Given the description of an element on the screen output the (x, y) to click on. 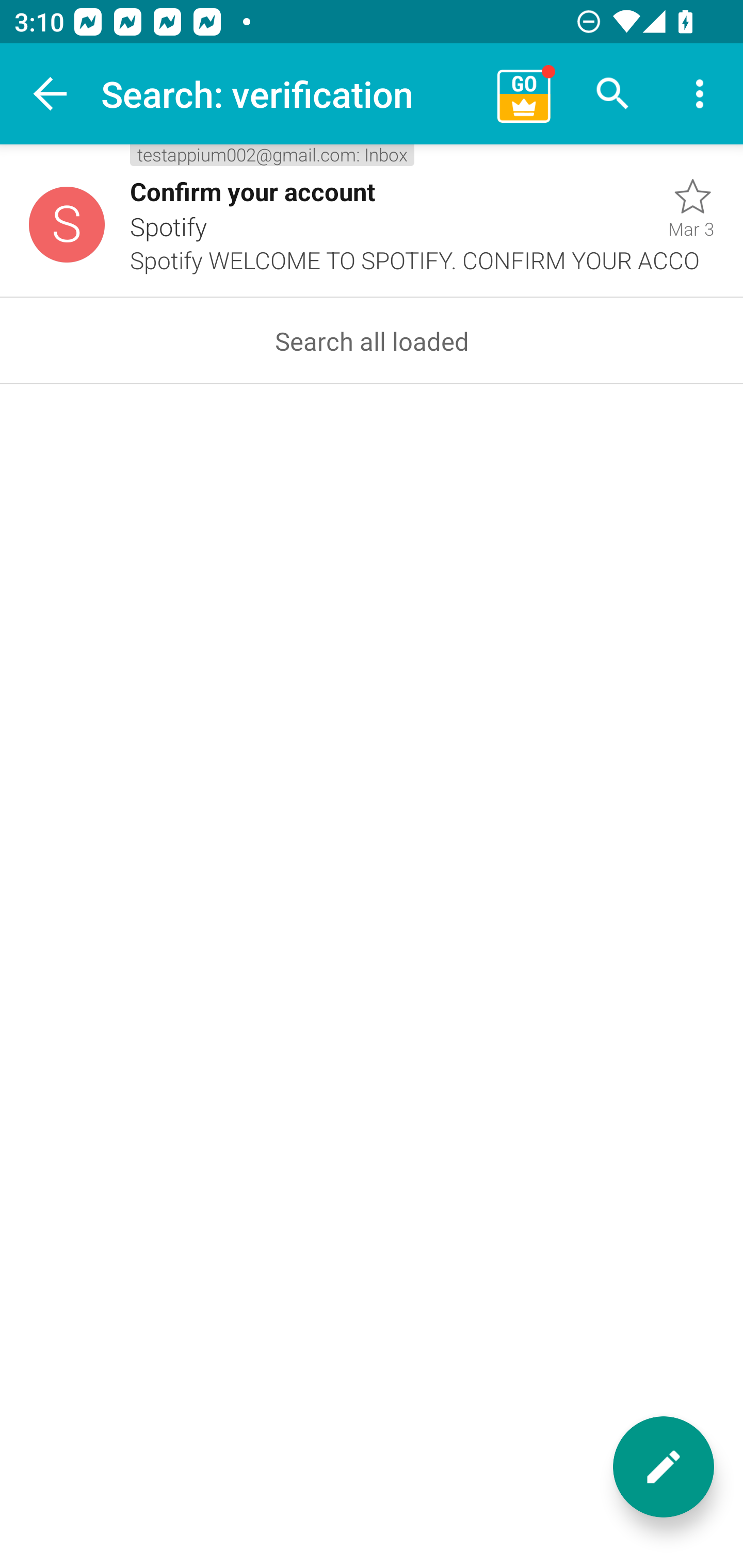
Navigate up (50, 93)
Search (612, 93)
More options (699, 93)
Search all loaded (371, 340)
New message (663, 1466)
